Given the description of an element on the screen output the (x, y) to click on. 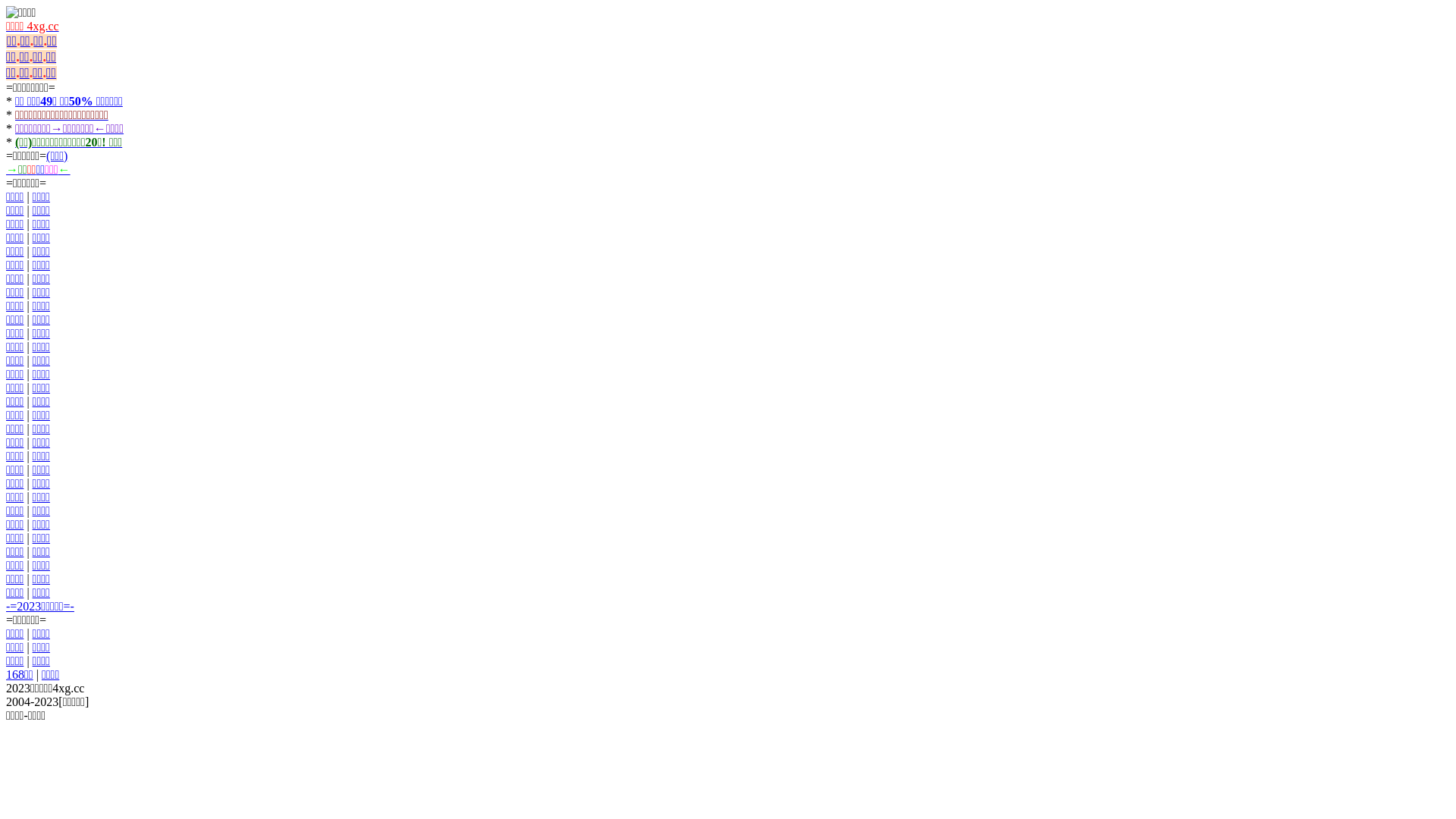
4xg.cc Element type: text (40, 25)
